Given the description of an element on the screen output the (x, y) to click on. 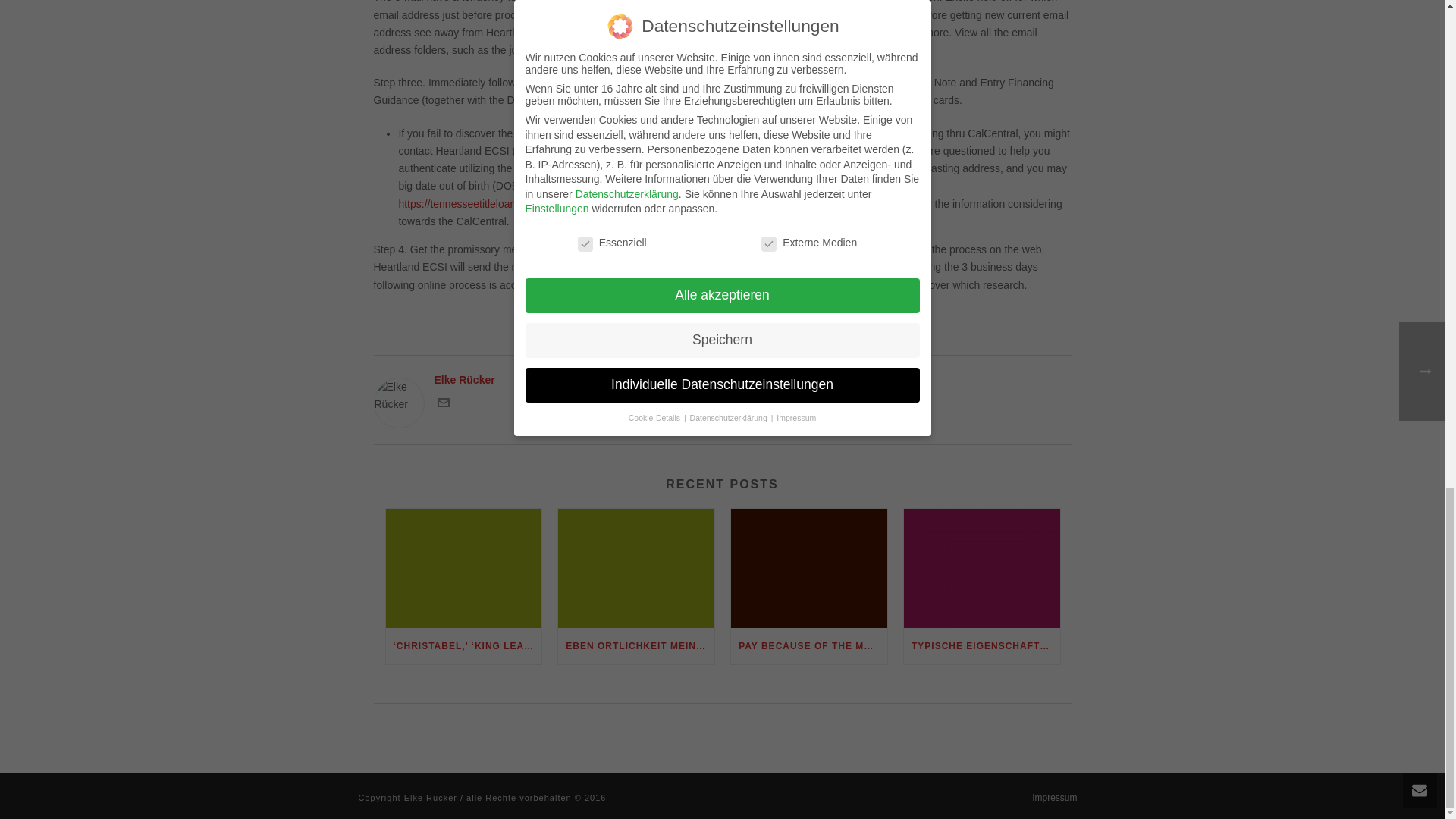
Get in touch with me via email (442, 404)
Impressum (1054, 797)
